Given the description of an element on the screen output the (x, y) to click on. 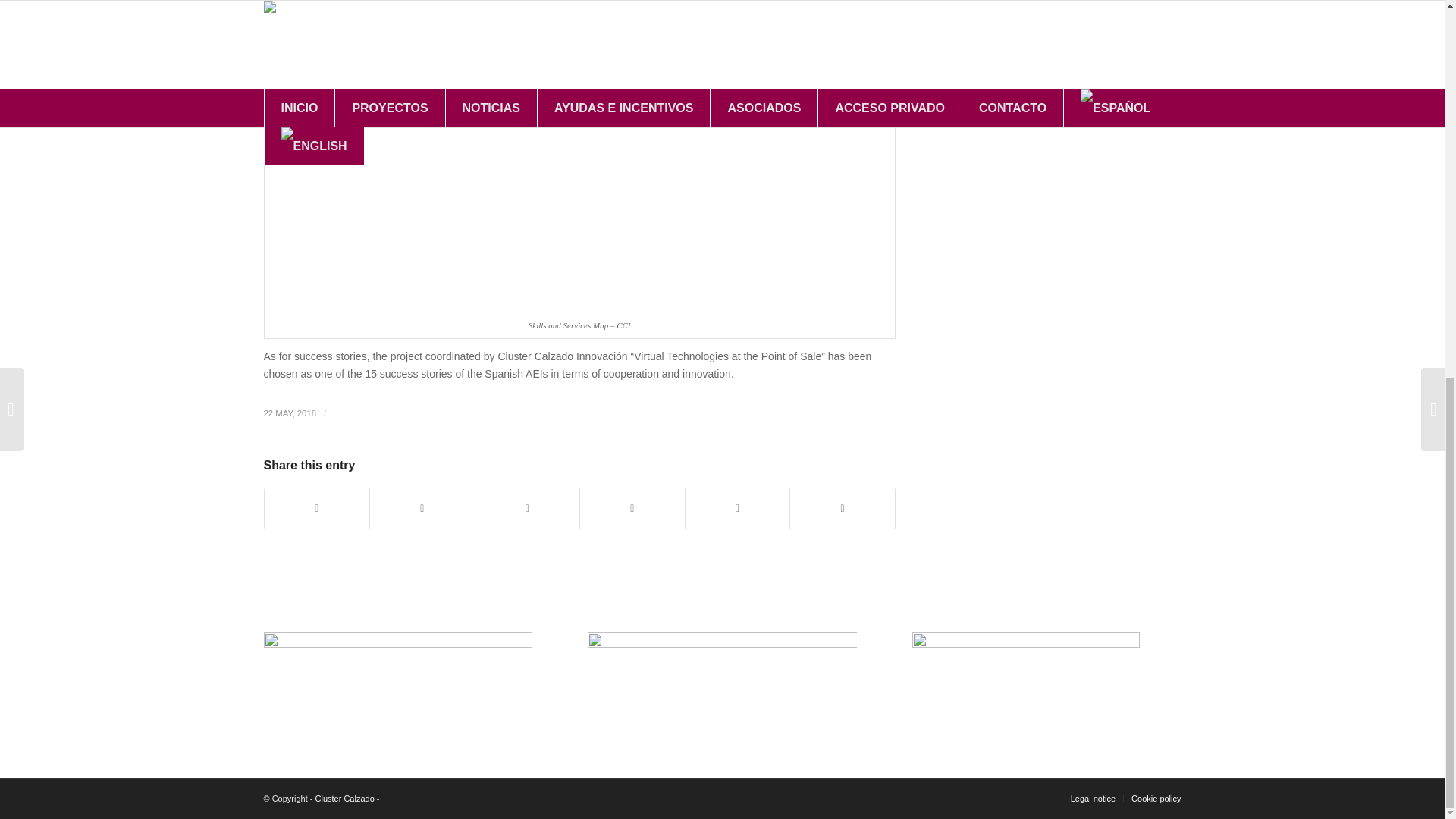
Cookie policy (1155, 798)
Cluster Calzado (344, 798)
Legal notice (1092, 798)
